Given the description of an element on the screen output the (x, y) to click on. 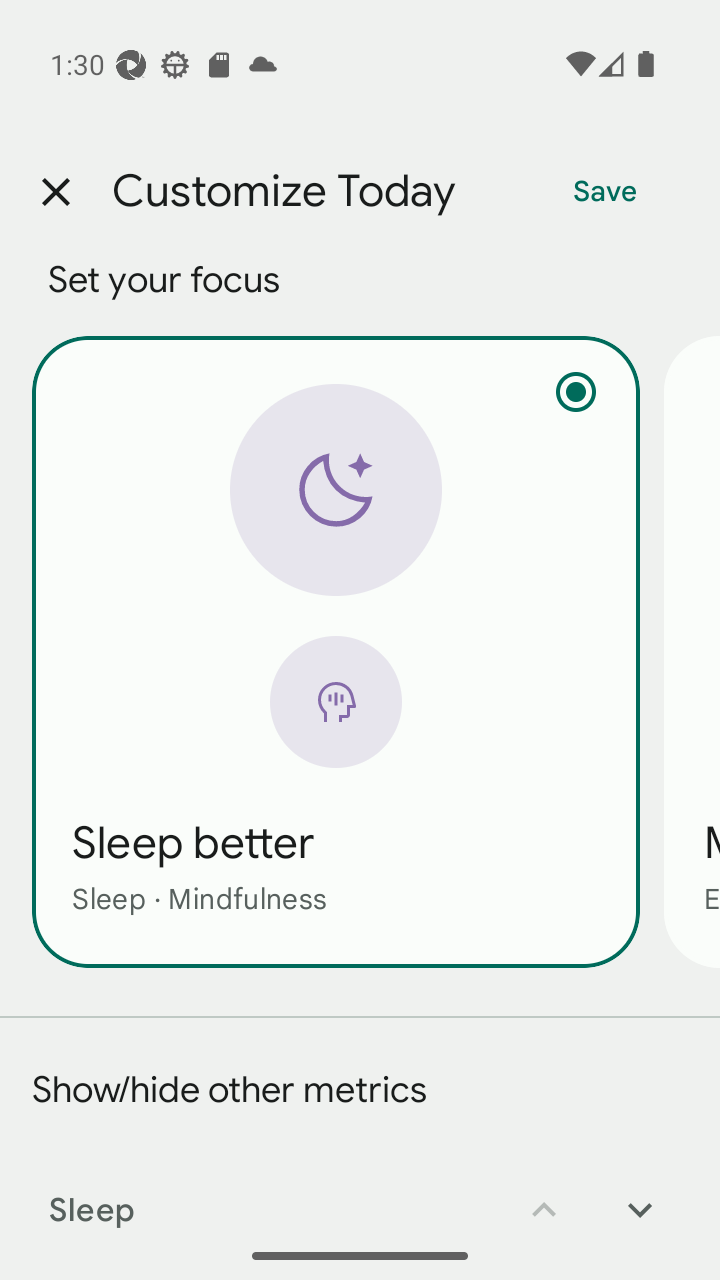
Close (55, 191)
Save (605, 191)
Sleep better Sleep · Mindfulness (335, 651)
Move Sleep up (543, 1196)
Move Sleep down (639, 1196)
